Given the description of an element on the screen output the (x, y) to click on. 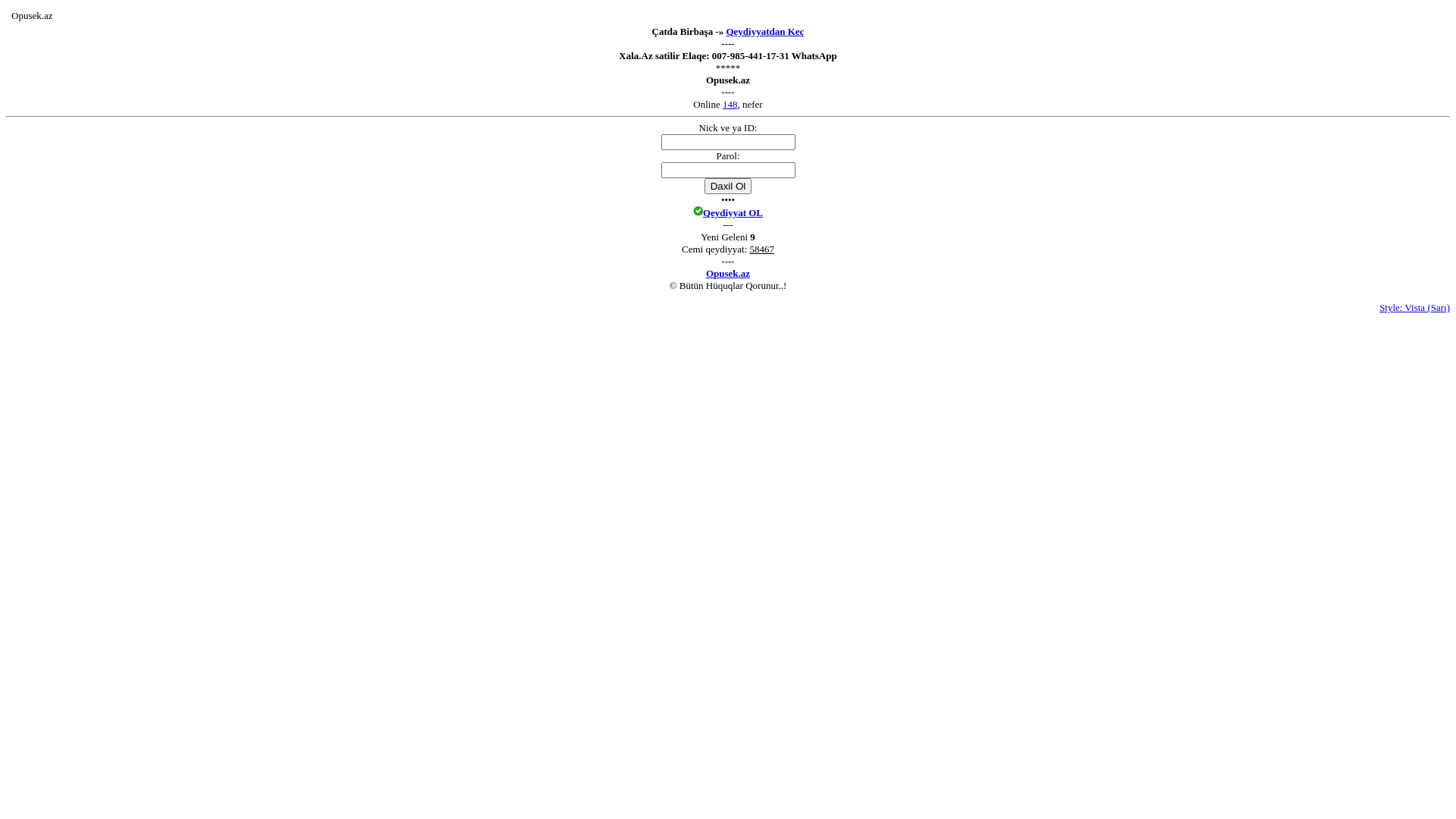
Daxil Ol Element type: text (728, 186)
Qonaqlar Element type: hover (92, 14)
Qonaqlar Element type: hover (92, 16)
Mektublar Element type: hover (77, 14)
nick Element type: hover (728, 142)
Qeydiyyat OL Element type: text (732, 212)
Mesajlar Element type: hover (62, 16)
Mesajlar Element type: hover (62, 14)
Mektublar Element type: hover (77, 16)
Opusek.az Element type: text (727, 273)
Parol Element type: hover (728, 170)
148 Element type: text (729, 103)
